Given the description of an element on the screen output the (x, y) to click on. 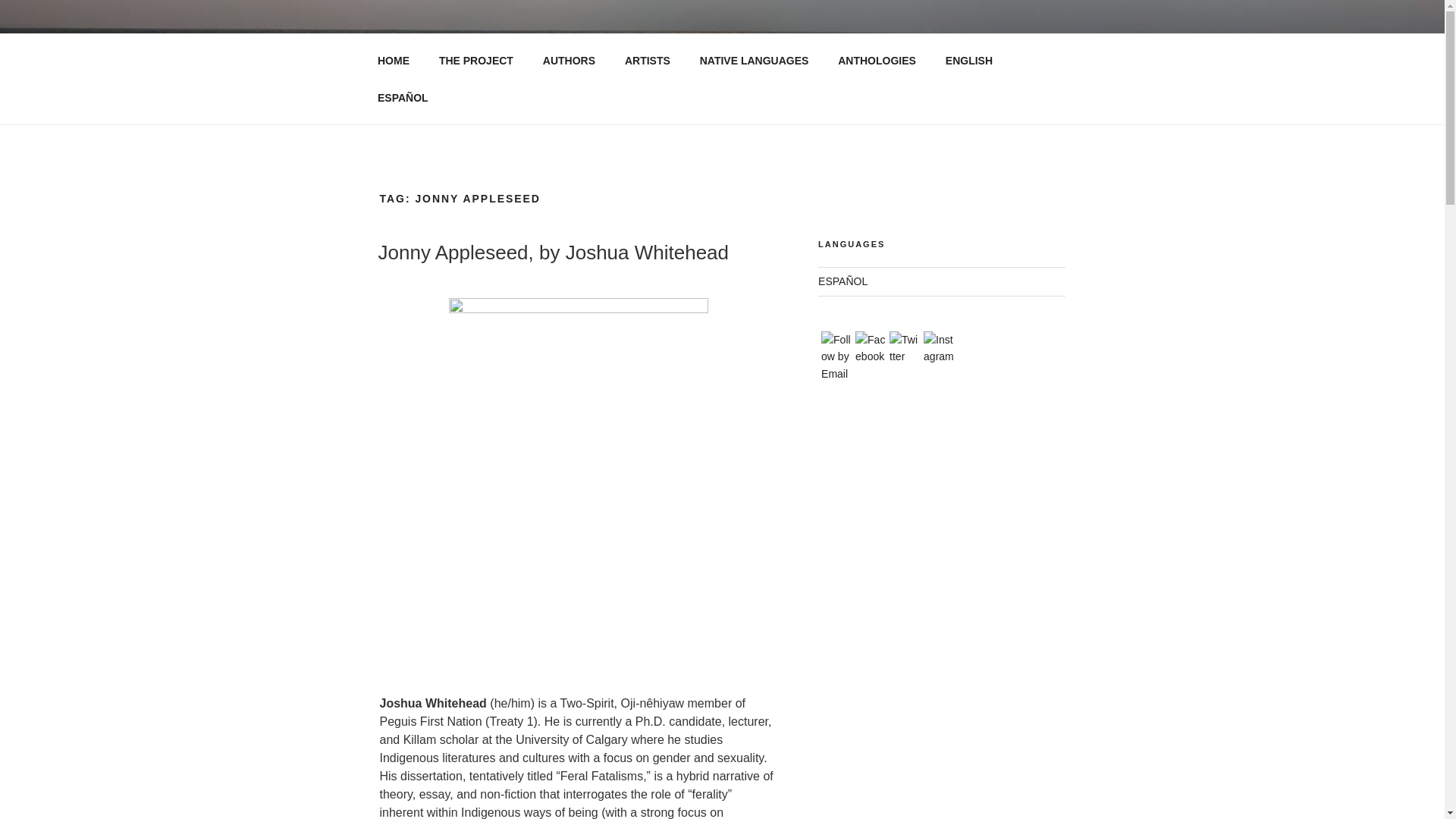
SIWAR MAYU (581, 52)
ENGLISH (968, 60)
Jonny Appleseed, by Joshua Whitehead (553, 251)
Instagram (938, 348)
HOME (393, 60)
Facebook (870, 348)
Follow by Email (836, 356)
THE PROJECT (475, 60)
Twitter (904, 348)
NATIVE LANGUAGES (753, 60)
AUTHORS (568, 60)
ARTISTS (646, 60)
ANTHOLOGIES (877, 60)
